Given the description of an element on the screen output the (x, y) to click on. 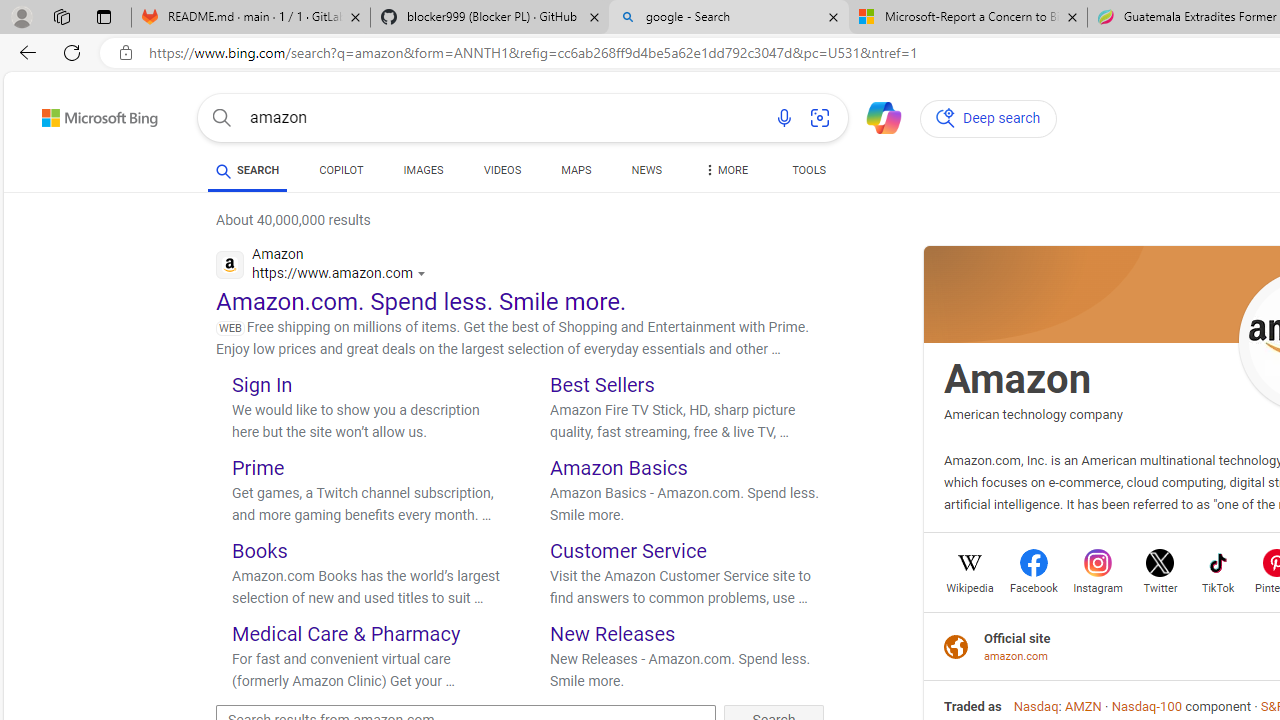
Books (259, 550)
Actions for this site (424, 273)
Chat (875, 116)
Global web icon (229, 264)
Customer Service (628, 550)
IMAGES (423, 173)
Class: sp-ofsite (955, 646)
Nasdaq (1035, 706)
IMAGES (423, 170)
COPILOT (341, 173)
Chat (875, 116)
SEARCH (247, 170)
